Given the description of an element on the screen output the (x, y) to click on. 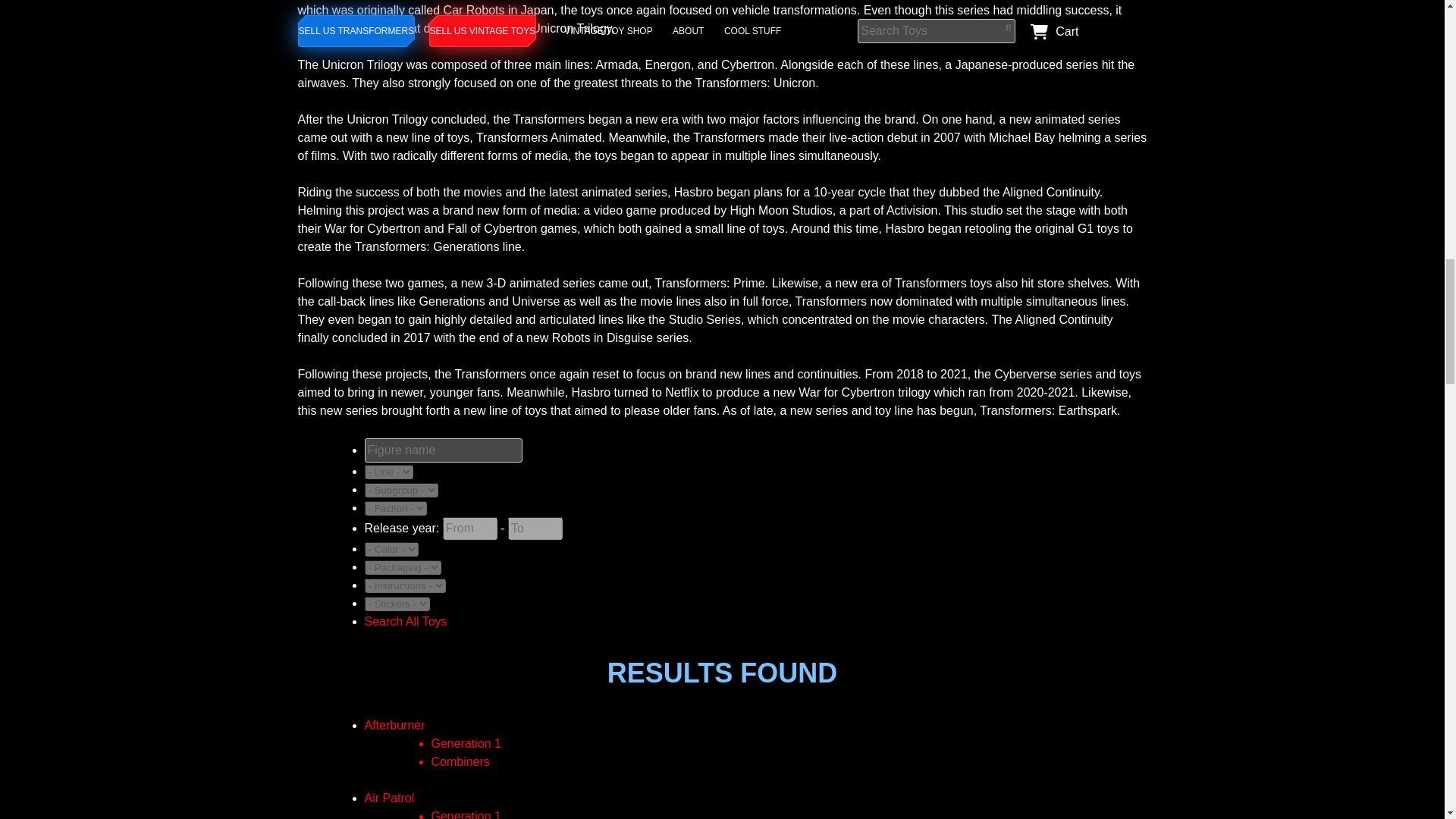
Search All Toys (405, 621)
